Given the description of an element on the screen output the (x, y) to click on. 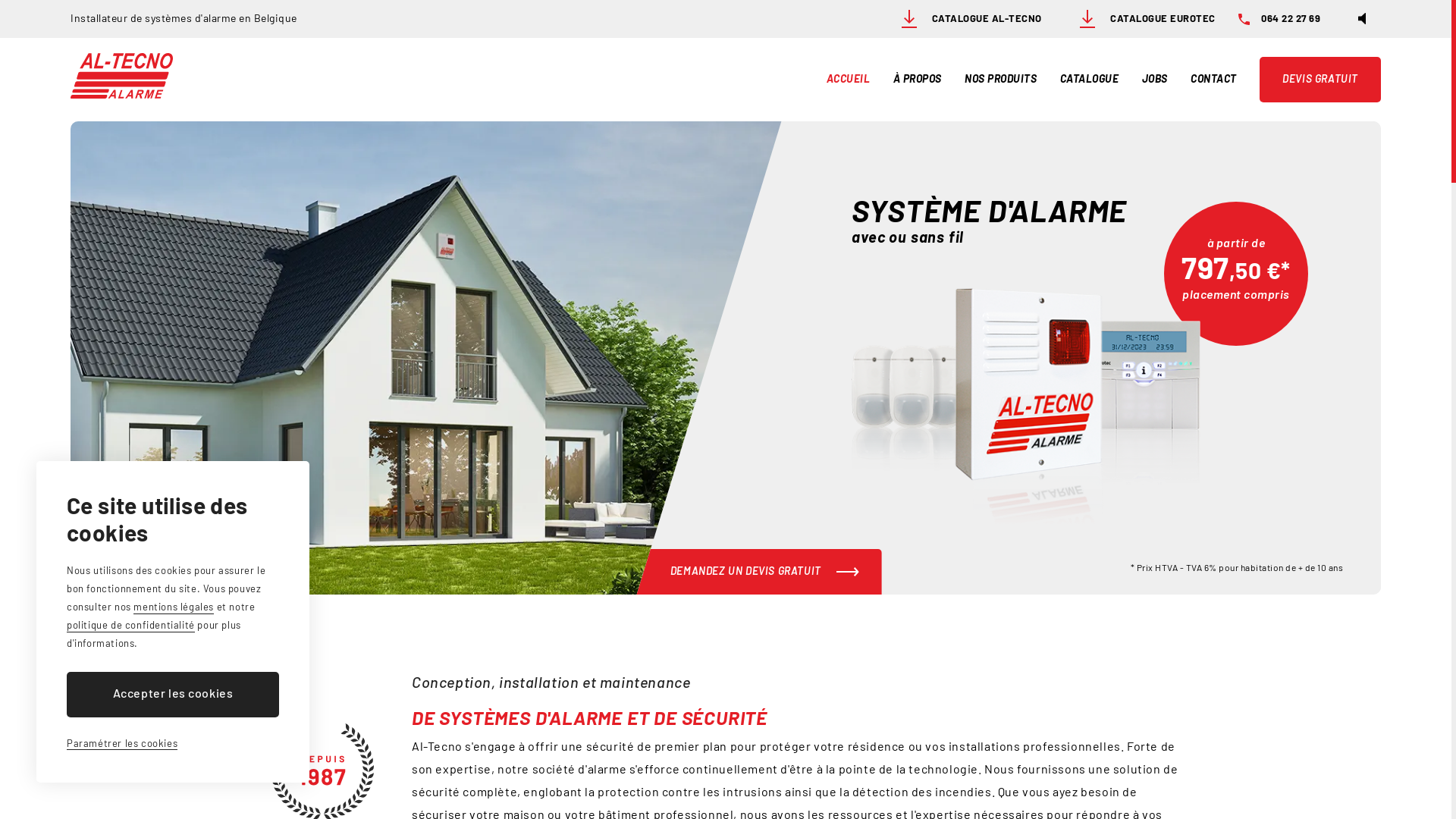
NOS PRODUITS Element type: text (1000, 79)
Al-tecno Element type: hover (121, 75)
ACCUEIL Element type: text (848, 79)
DEVIS GRATUIT Element type: text (1319, 79)
CONTACT Element type: text (1213, 79)
CATALOGUE Element type: text (1089, 79)
JOBS Element type: text (1154, 79)
CATALOGUE AL-TECNO Element type: text (963, 18)
064 22 27 69 Element type: text (1279, 18)
DEMANDEZ UN DEVIS GRATUIT Element type: text (752, 571)
CATALOGUE EUROTEC Element type: text (1139, 18)
